Given the description of an element on the screen output the (x, y) to click on. 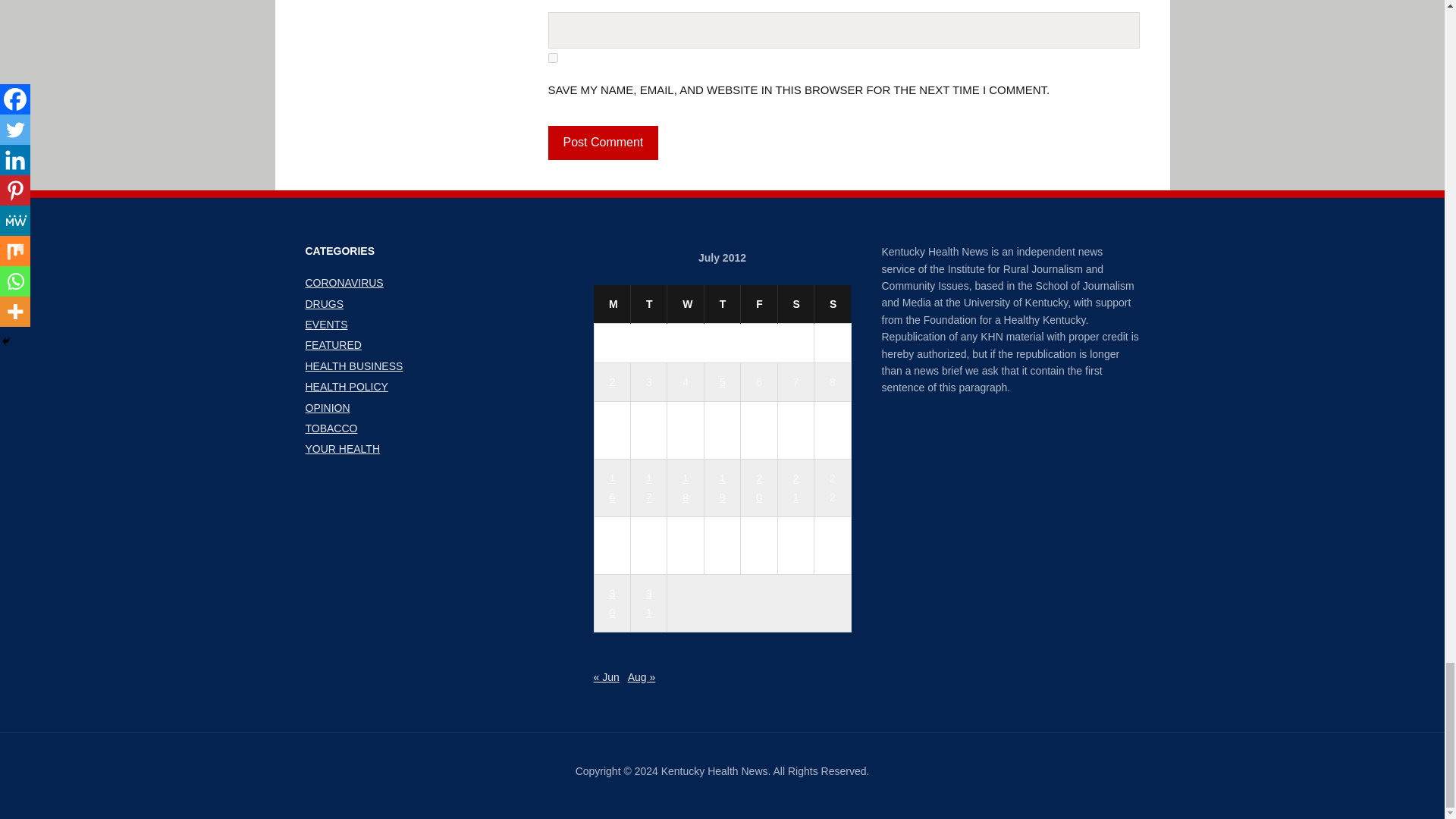
Post Comment (602, 142)
yes (552, 58)
